Given the description of an element on the screen output the (x, y) to click on. 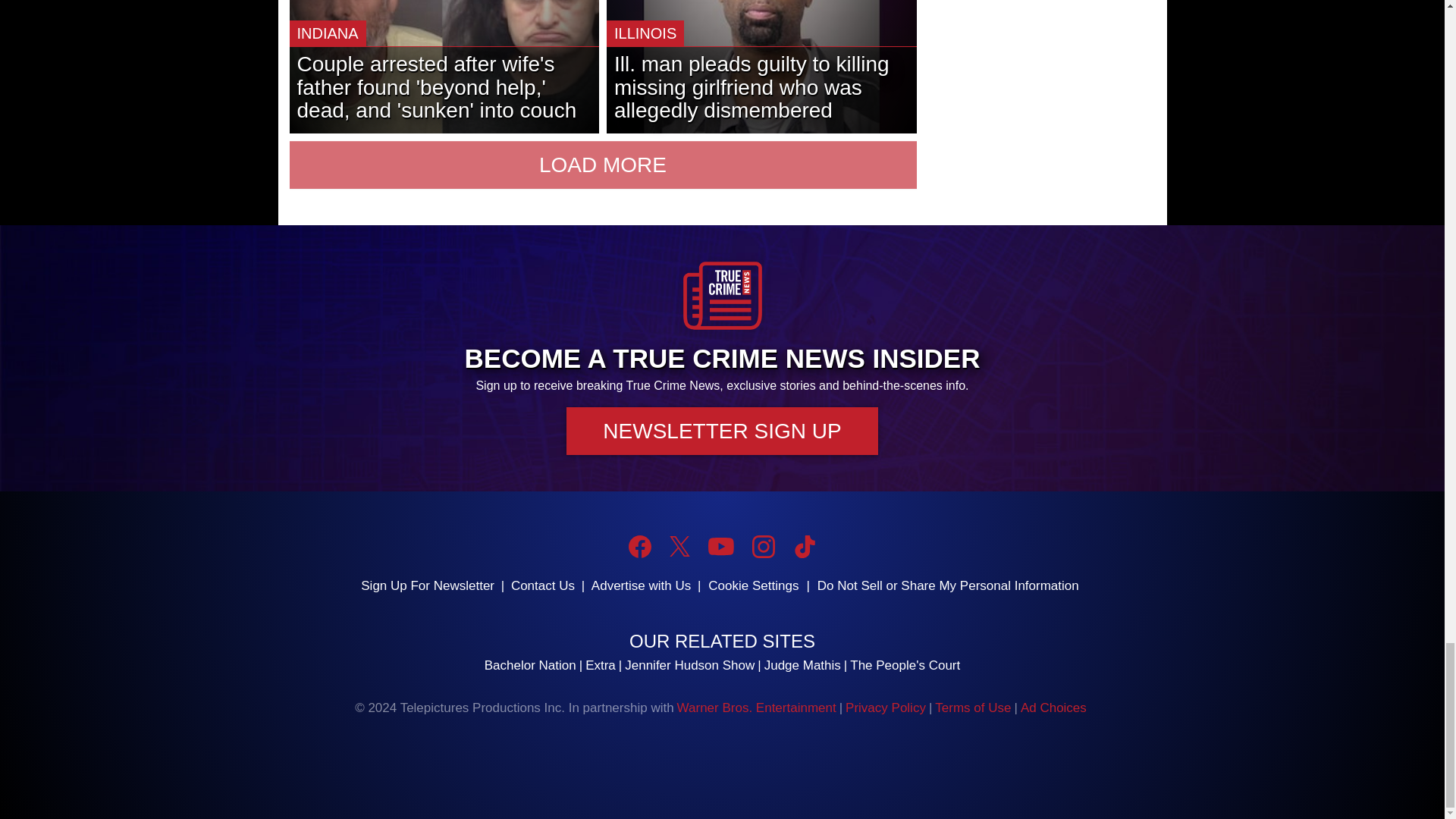
YouTube (720, 546)
Twitter (679, 546)
Instagram (763, 546)
Facebook (639, 546)
TikTok (804, 546)
